Given the description of an element on the screen output the (x, y) to click on. 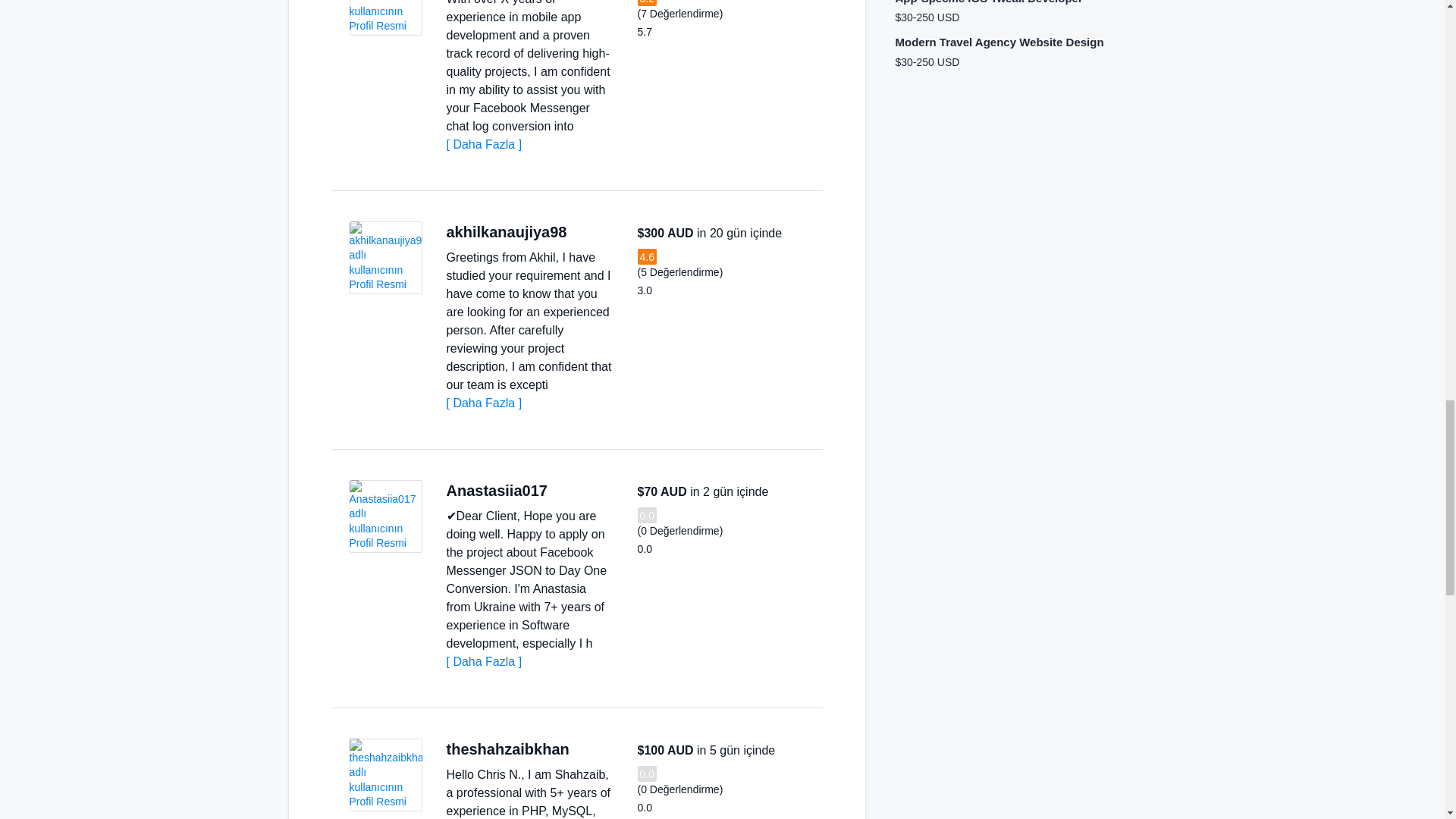
Anastasiia017 (496, 490)
Daha Fazla (483, 402)
akhilkanaujiya98 (505, 231)
Ukraine (563, 491)
United Kingdom (585, 749)
Daha Fazla (483, 144)
Daha Fazla (483, 661)
India (582, 232)
theshahzaibkhan (507, 749)
